Given the description of an element on the screen output the (x, y) to click on. 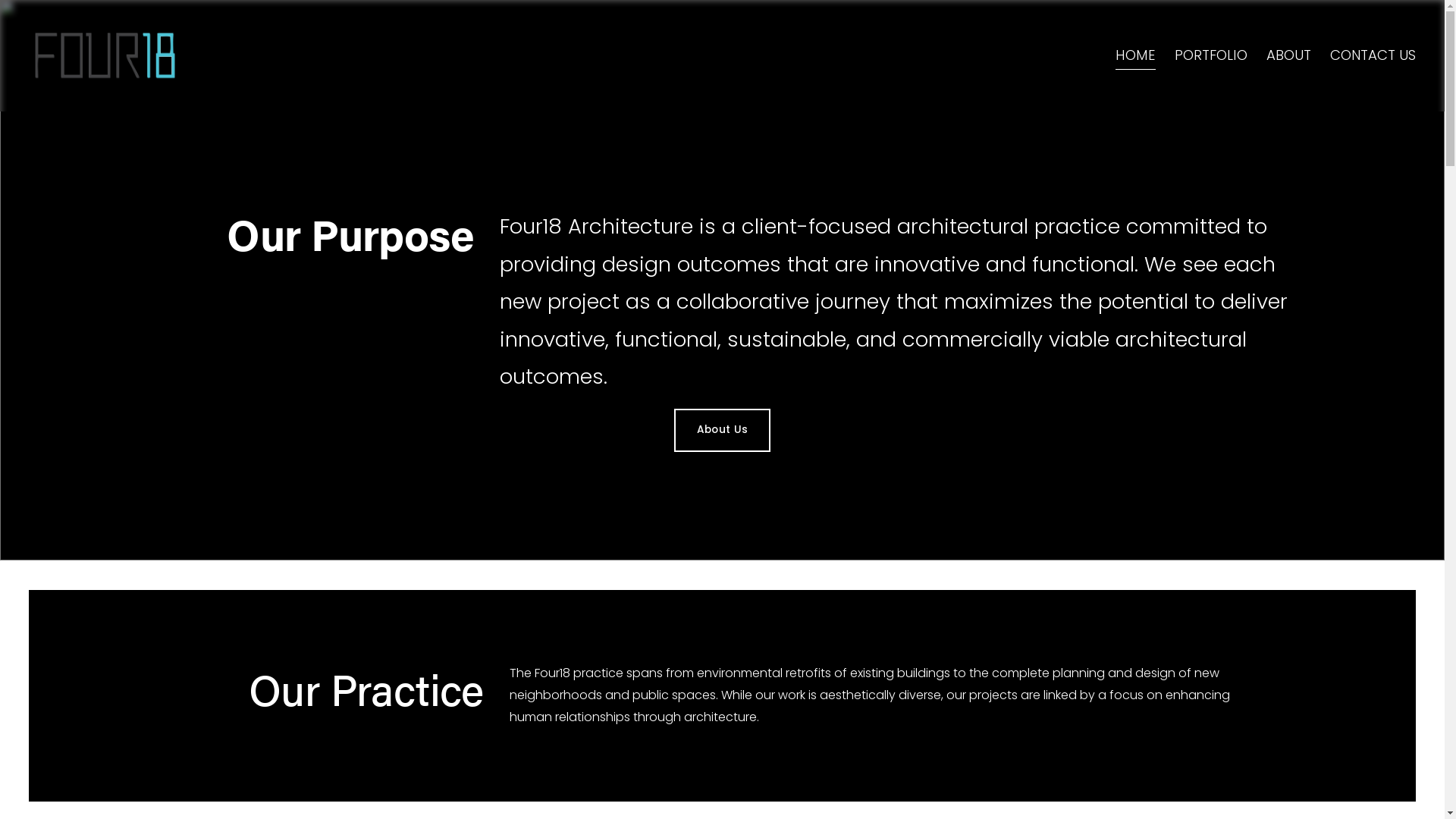
ABOUT Element type: text (1288, 55)
CONTACT US Element type: text (1372, 55)
About Us Element type: text (721, 429)
PORTFOLIO Element type: text (1210, 55)
HOME Element type: text (1135, 55)
